Given the description of an element on the screen output the (x, y) to click on. 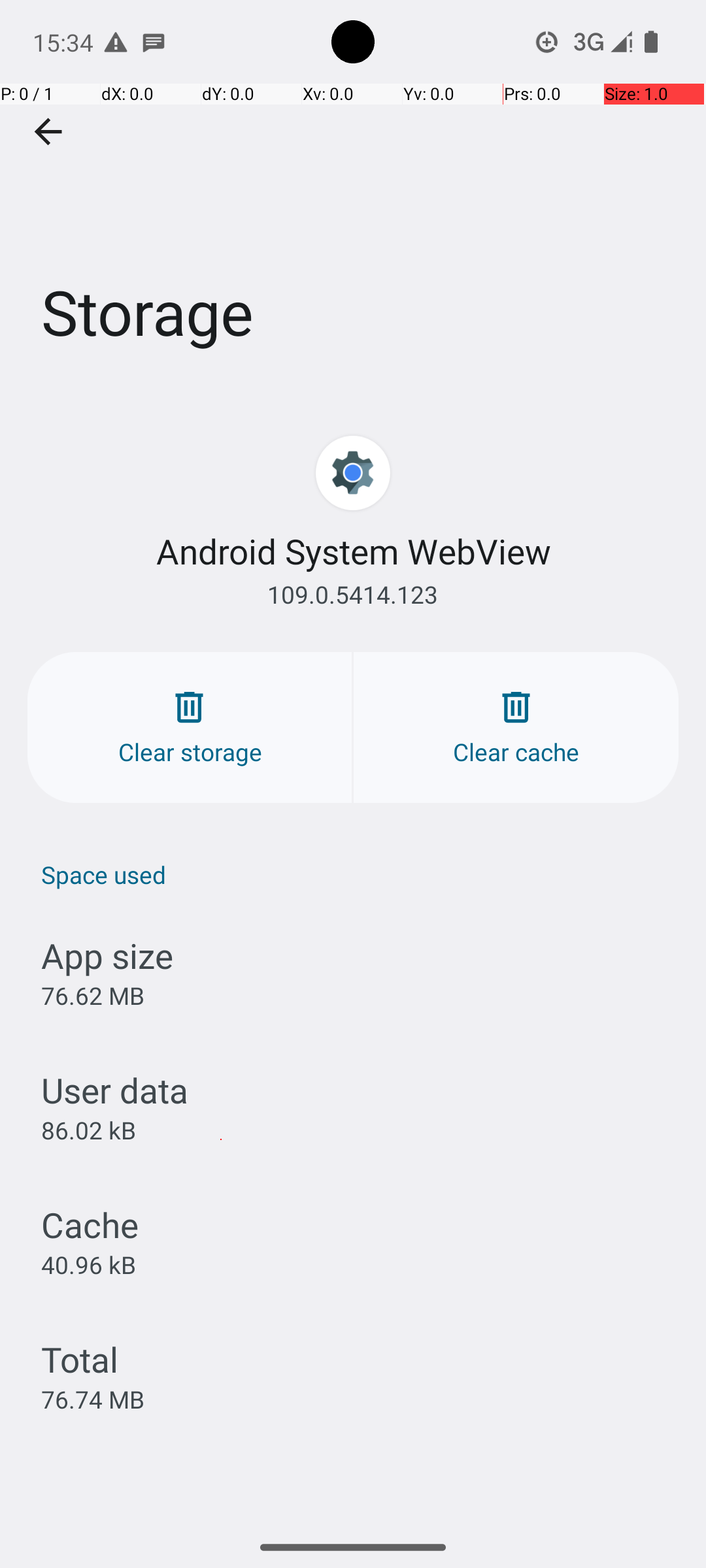
Storage Element type: android.widget.FrameLayout (353, 195)
Android System WebView Element type: android.widget.TextView (352, 550)
109.0.5414.123 Element type: android.widget.TextView (352, 593)
Clear storage Element type: android.widget.Button (189, 727)
Clear cache Element type: android.widget.Button (515, 727)
Space used Element type: android.widget.TextView (359, 874)
App size Element type: android.widget.TextView (107, 955)
76.62 MB Element type: android.widget.TextView (92, 995)
User data Element type: android.widget.TextView (114, 1089)
86.02 kB Element type: android.widget.TextView (88, 1129)
Cache Element type: android.widget.TextView (89, 1224)
40.96 kB Element type: android.widget.TextView (88, 1264)
Total Element type: android.widget.TextView (79, 1359)
76.74 MB Element type: android.widget.TextView (92, 1398)
